Given the description of an element on the screen output the (x, y) to click on. 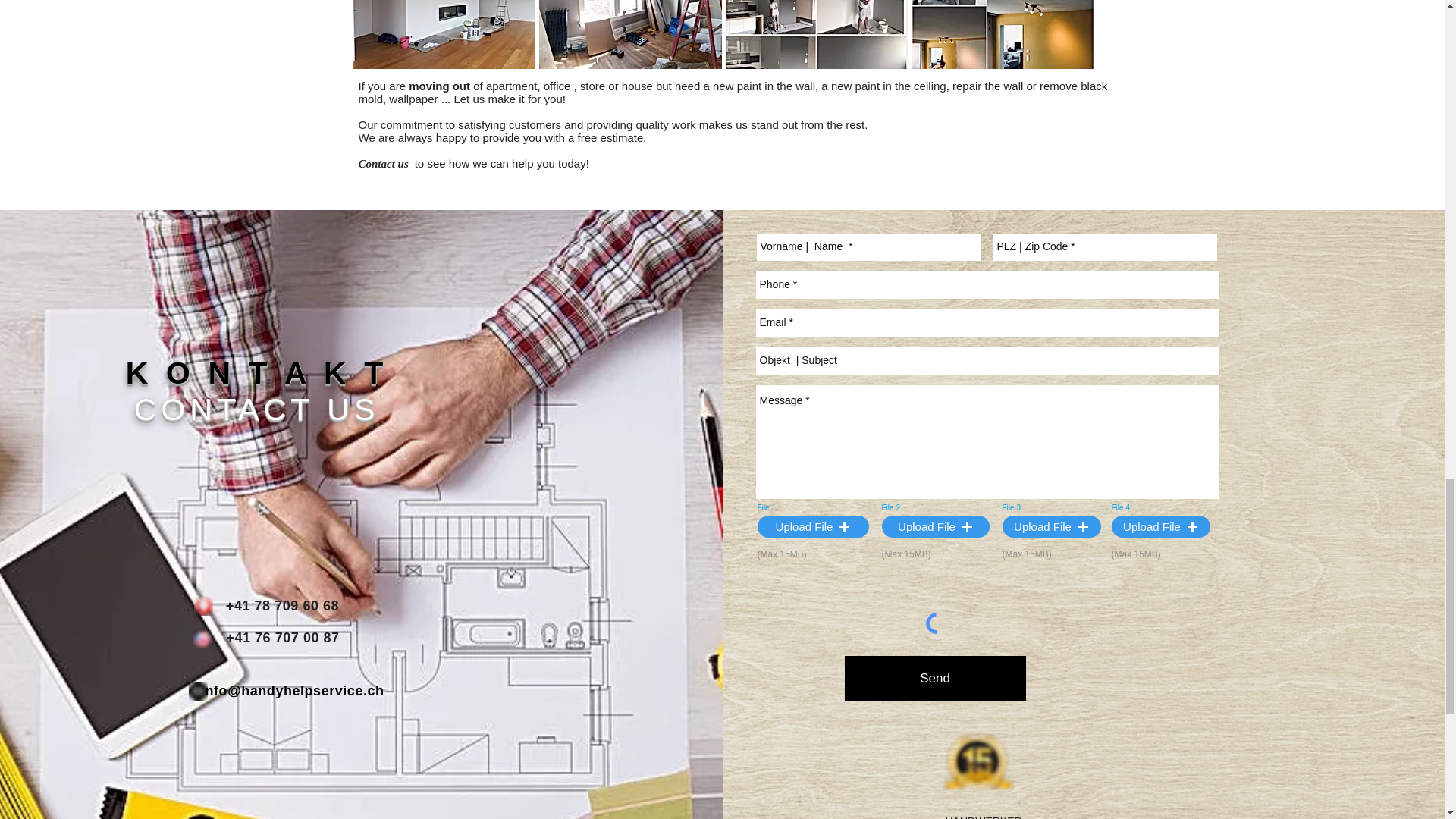
Contact us  (385, 163)
Show more... (723, 82)
15yearshandyhelp.png (977, 761)
